Given the description of an element on the screen output the (x, y) to click on. 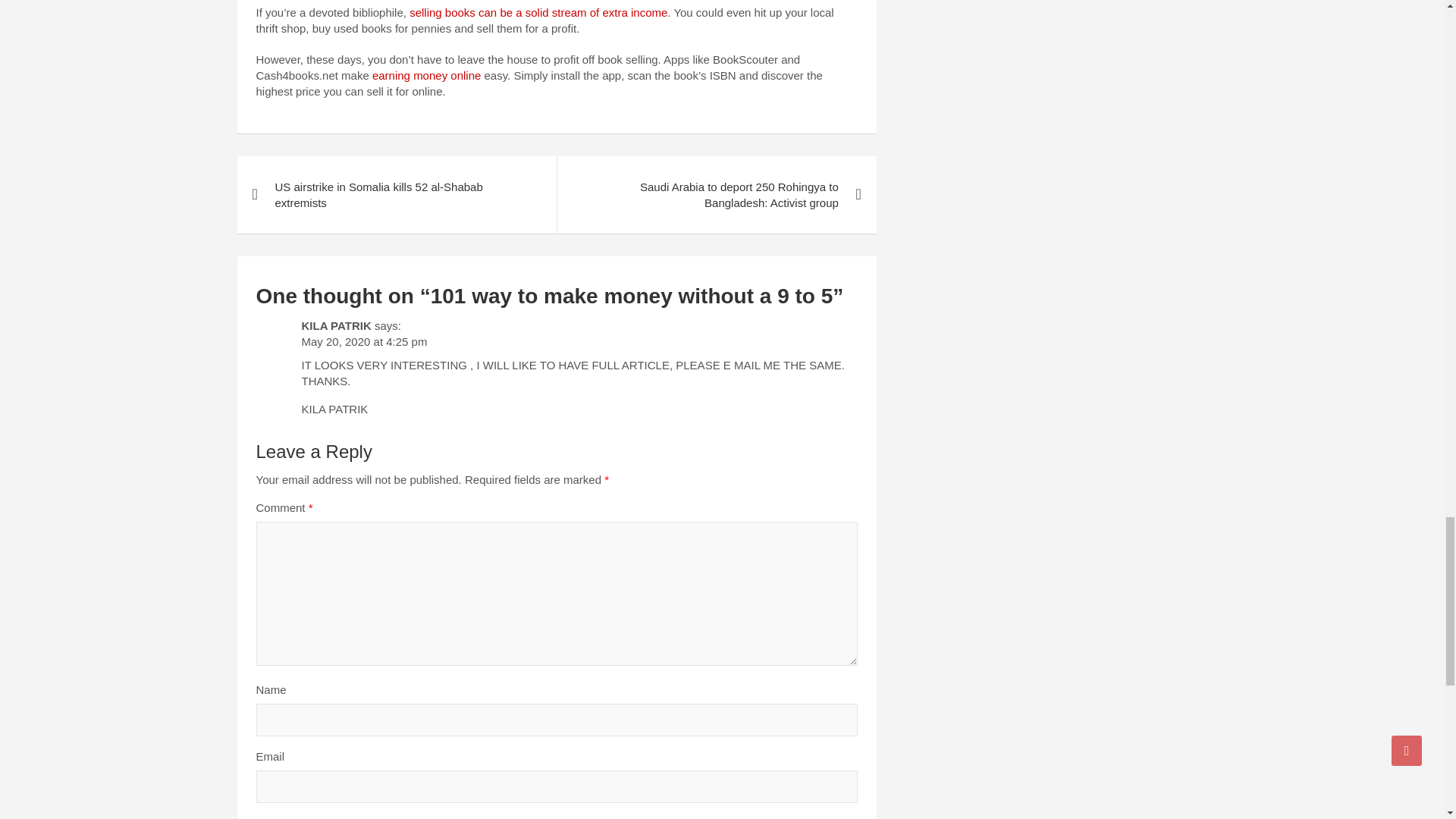
May 20, 2020 at 4:25 pm (364, 341)
earning money online (426, 74)
selling books can be a solid stream of extra income (537, 11)
US airstrike in Somalia kills 52 al-Shabab extremists (395, 194)
